Given the description of an element on the screen output the (x, y) to click on. 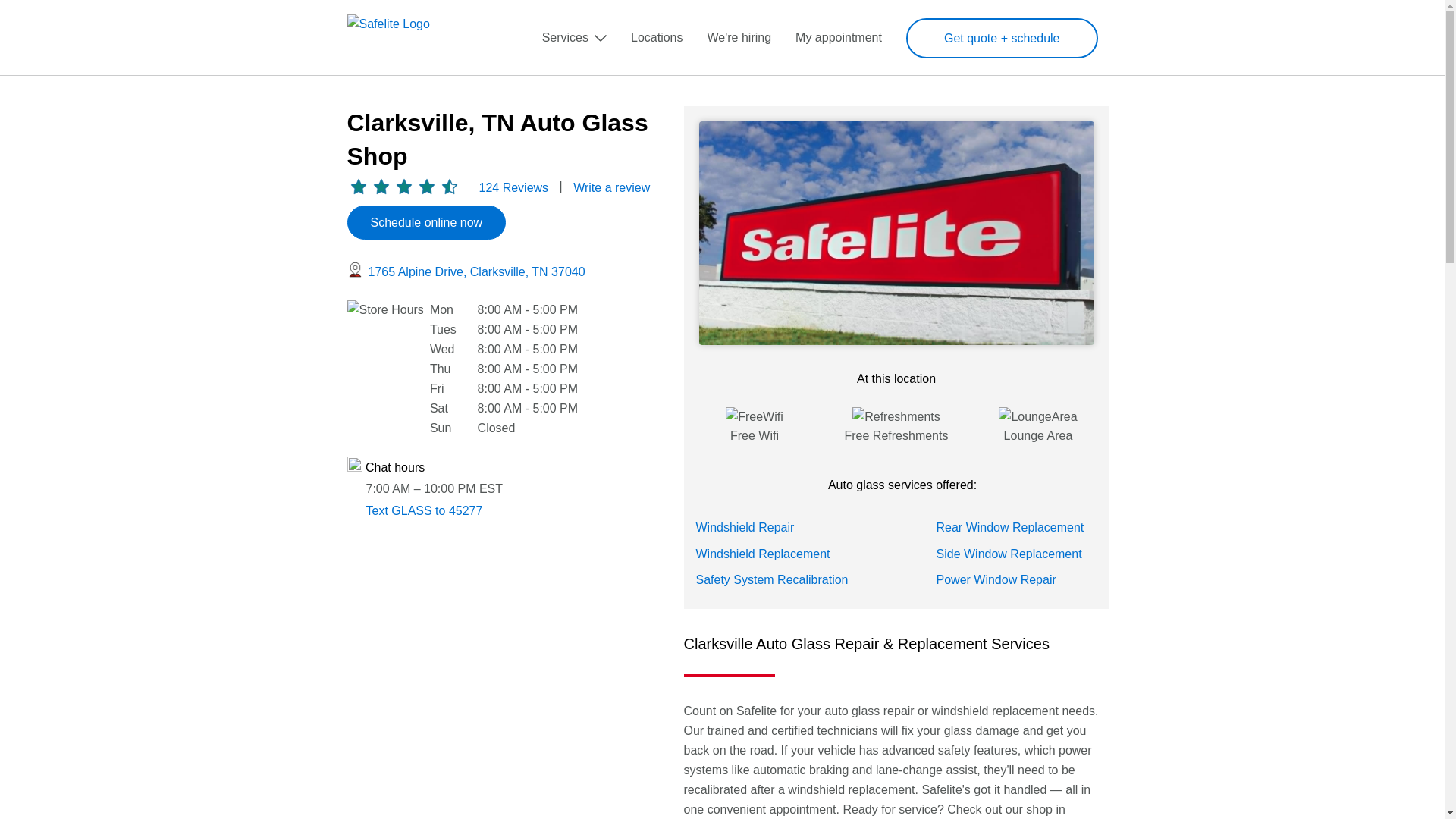
Power Window Repair (995, 579)
We're hiring (739, 37)
Safety System Recalibration (771, 579)
1765 Alpine Drive, Clarksville, TN 37040 (476, 271)
Locations (656, 37)
Safelite Logo (408, 36)
124 Reviews (513, 187)
Text GLASS to 45277 (423, 510)
Rated 4.6 out of 5 (404, 186)
Rear Window Replacement (1009, 526)
Write a review (611, 187)
Schedule online now (426, 222)
Windshield Repair (744, 526)
Windshield Replacement (762, 553)
Side Window Replacement (1008, 553)
